Given the description of an element on the screen output the (x, y) to click on. 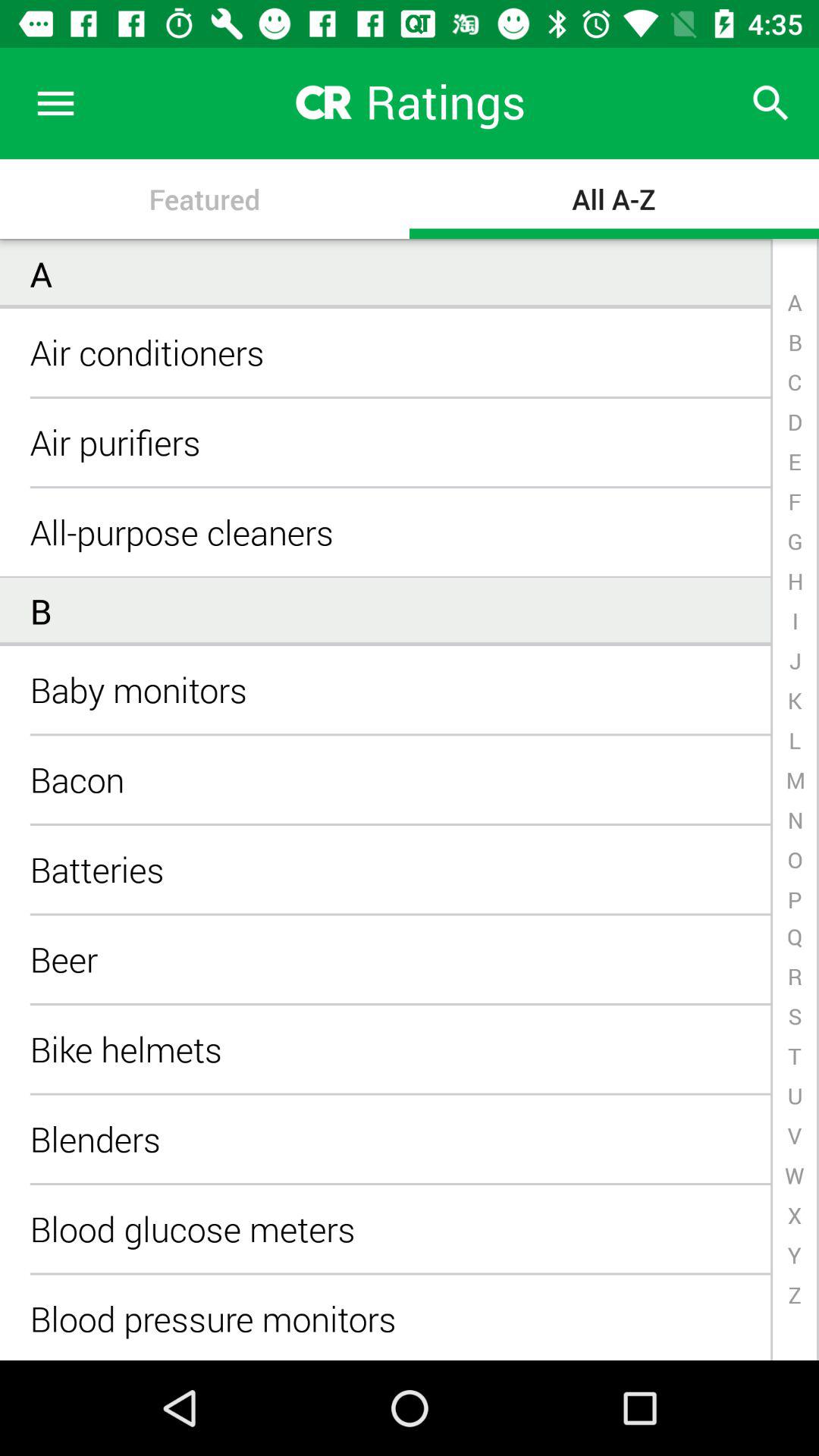
click item to the right of ratings icon (771, 103)
